Given the description of an element on the screen output the (x, y) to click on. 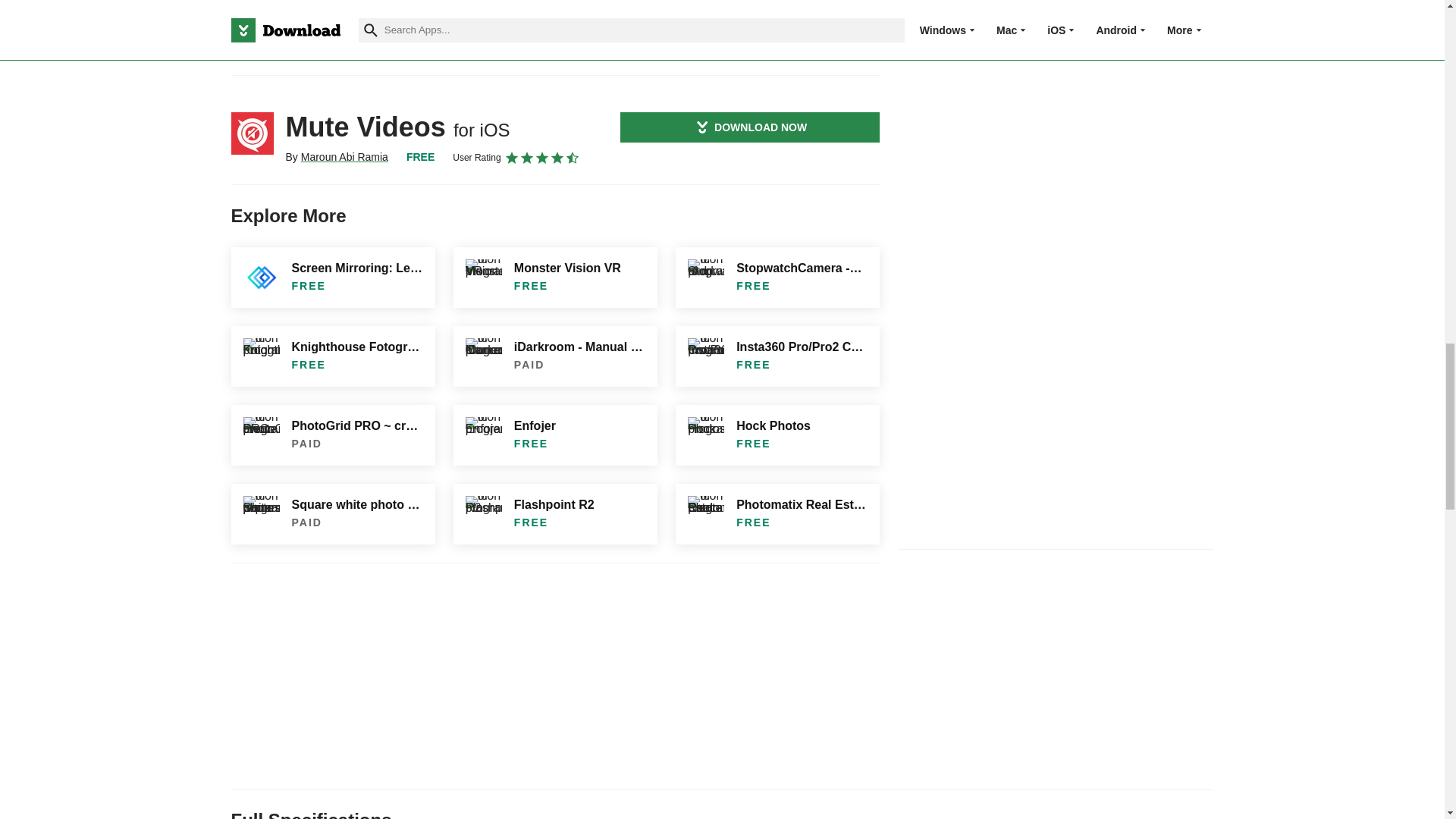
Mute Videos for iOS (251, 133)
Monster Vision VR (555, 277)
Screen Mirroring: LetsView (331, 277)
Flashpoint R2 (555, 514)
Enfojer (555, 435)
Photomatix Real Estate Camera (777, 514)
Knighthouse Fotografie (331, 355)
Square white photo frames for insta  Pro (331, 514)
StopwatchCamera -Add to movie- (777, 277)
Hock Photos (777, 435)
